Given the description of an element on the screen output the (x, y) to click on. 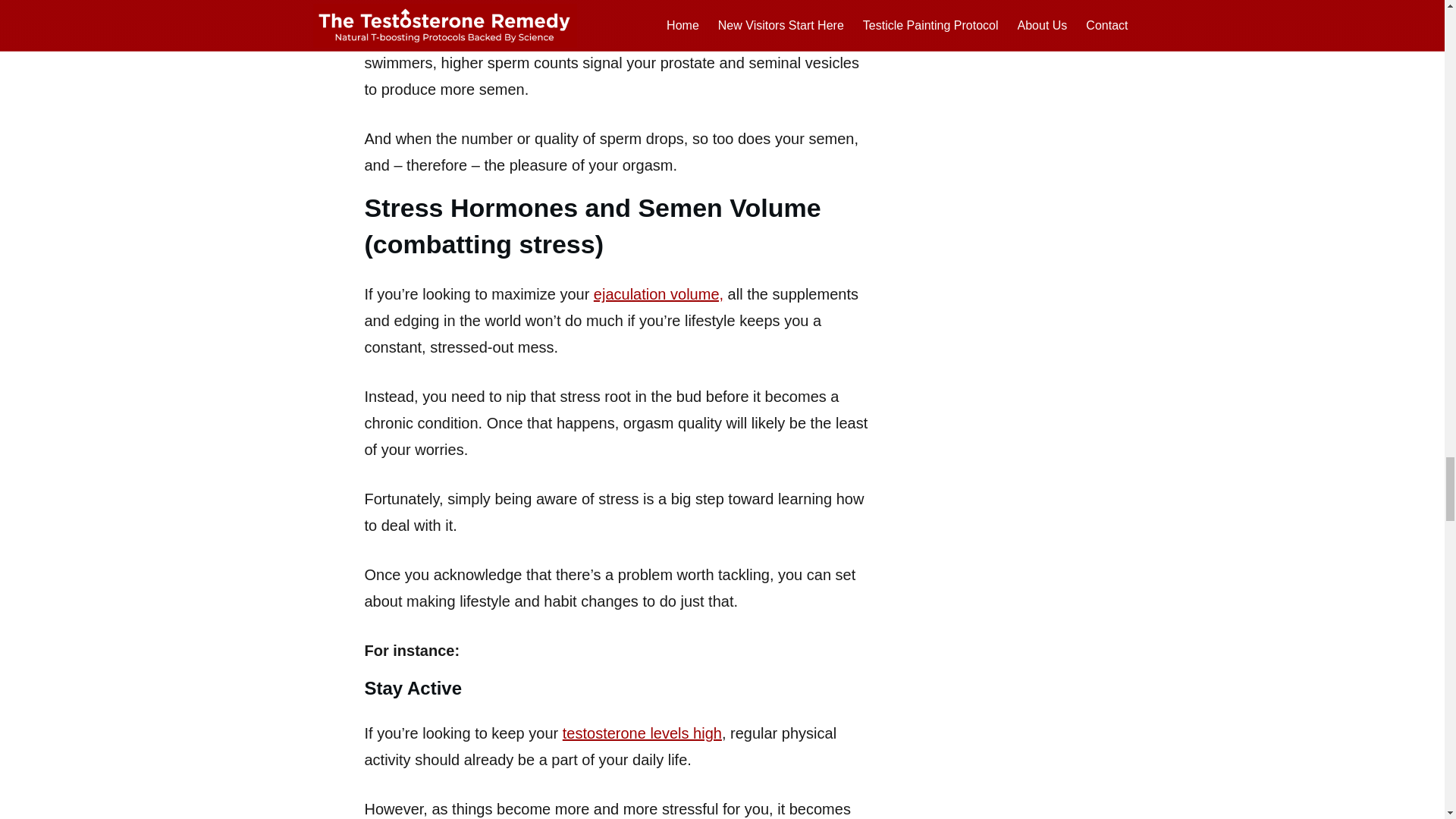
testosterone levels high (642, 733)
ejaculation volume, (658, 293)
